Given the description of an element on the screen output the (x, y) to click on. 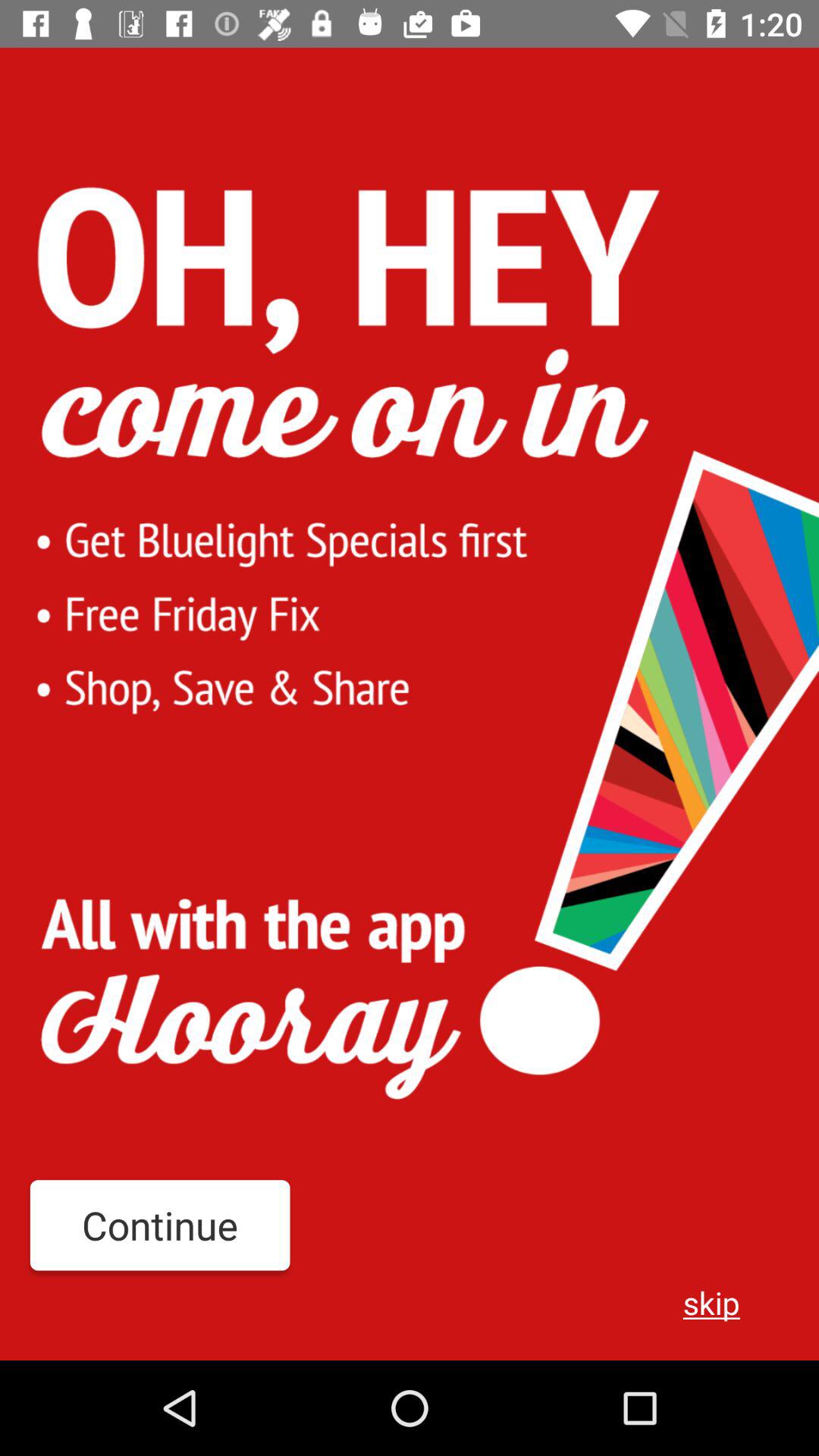
launch the icon next to continue (711, 1302)
